Given the description of an element on the screen output the (x, y) to click on. 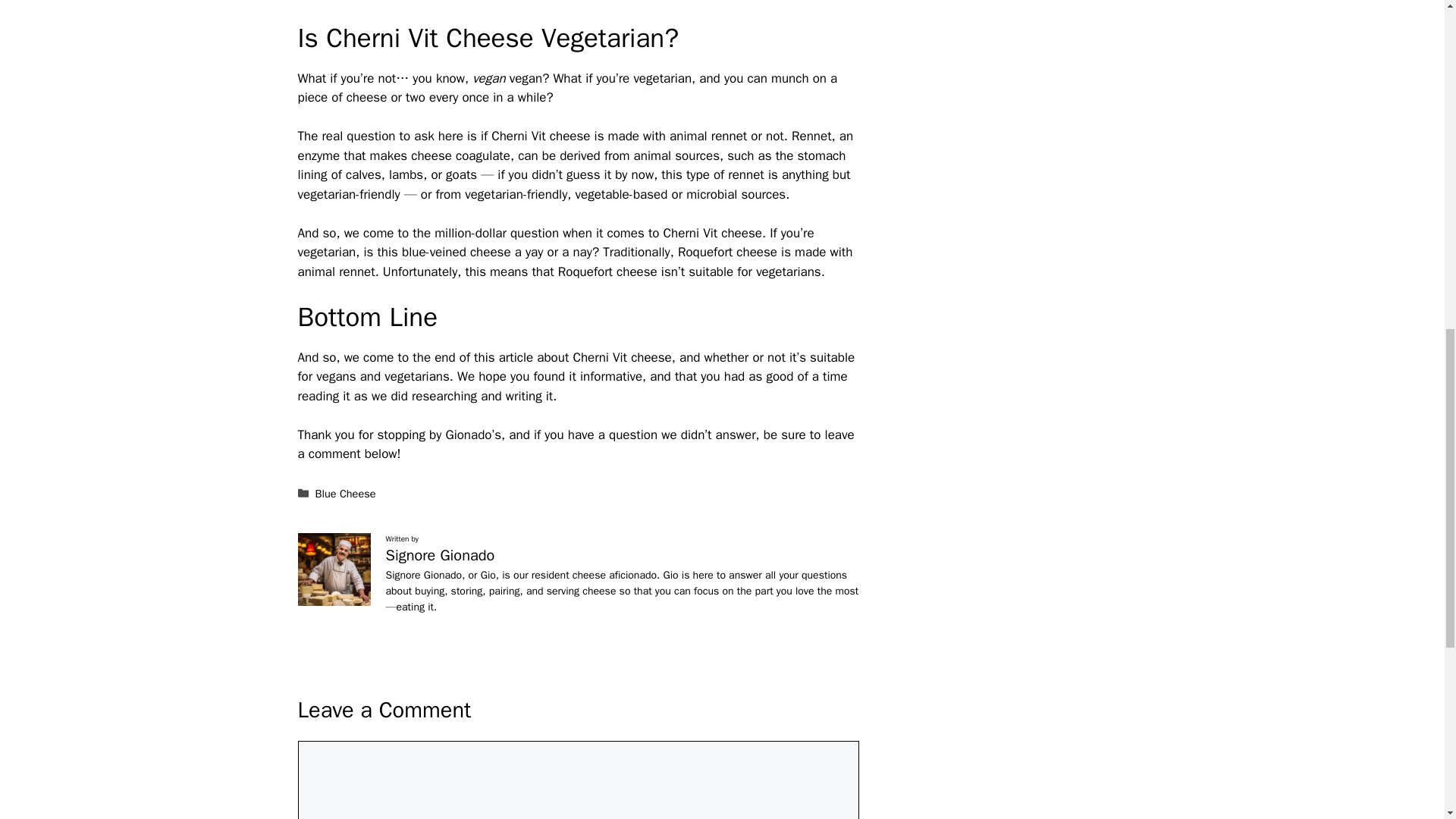
Signore Gionado (440, 555)
Blue Cheese (345, 493)
